Given the description of an element on the screen output the (x, y) to click on. 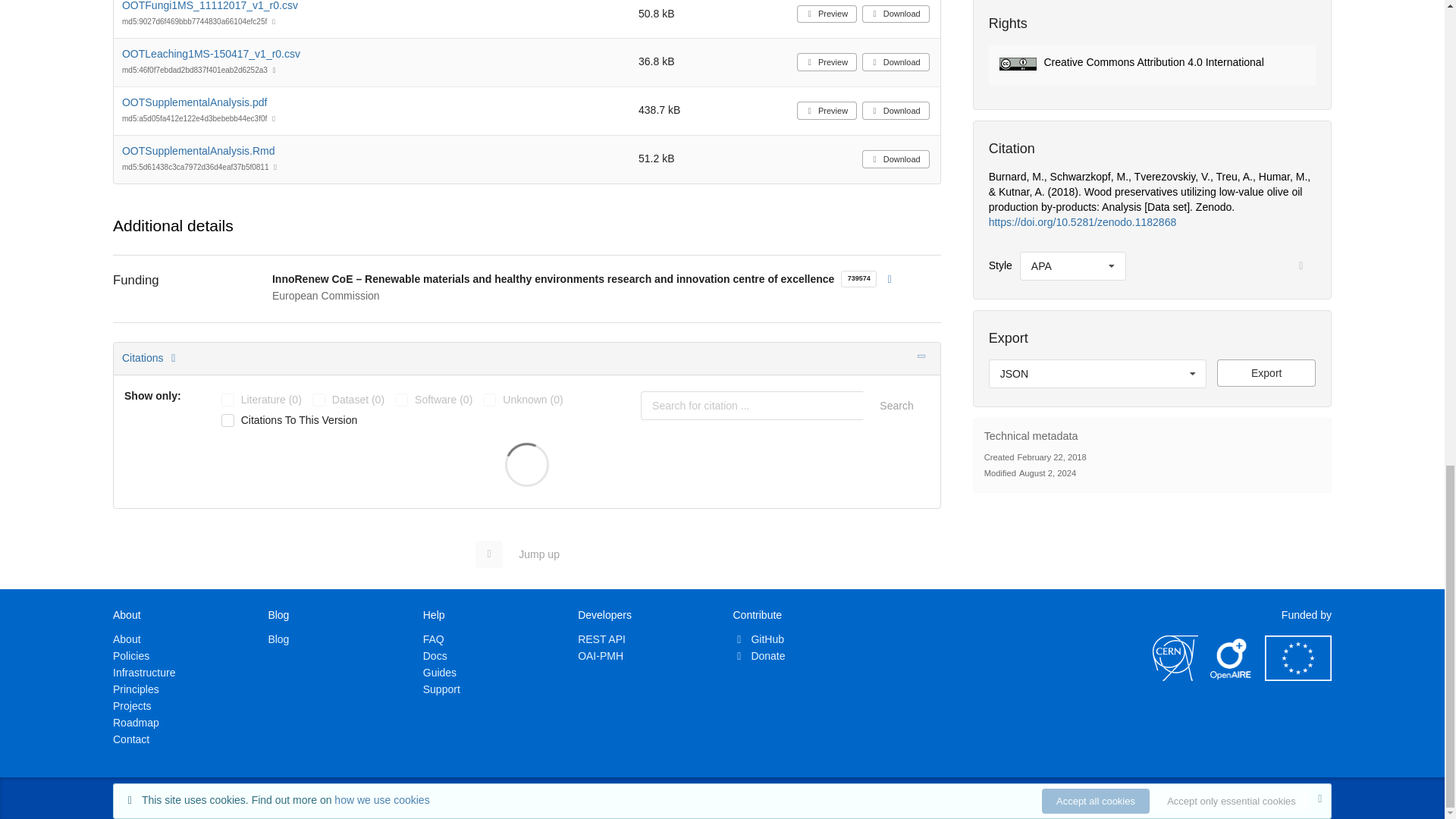
Download (895, 158)
OOTSupplementalAnalysis.Rmd (198, 150)
OOTSupplementalAnalysis.pdf (194, 102)
Download (895, 13)
Preview (826, 13)
Download (895, 110)
Download file (1266, 372)
Preview (826, 110)
Download (895, 62)
Preview (826, 62)
